Given the description of an element on the screen output the (x, y) to click on. 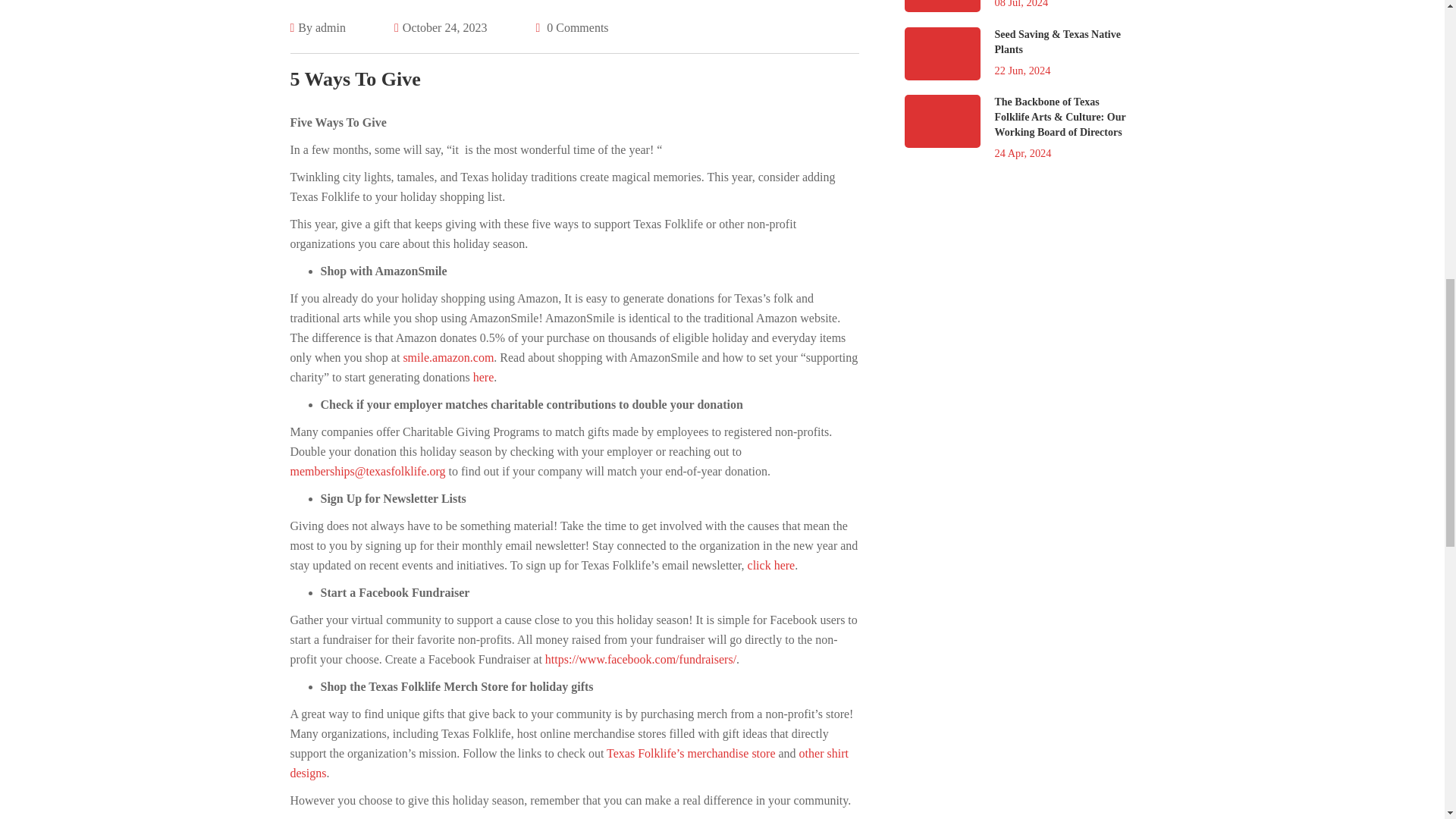
Post date (440, 27)
Post by (328, 27)
Comment (560, 27)
